Given the description of an element on the screen output the (x, y) to click on. 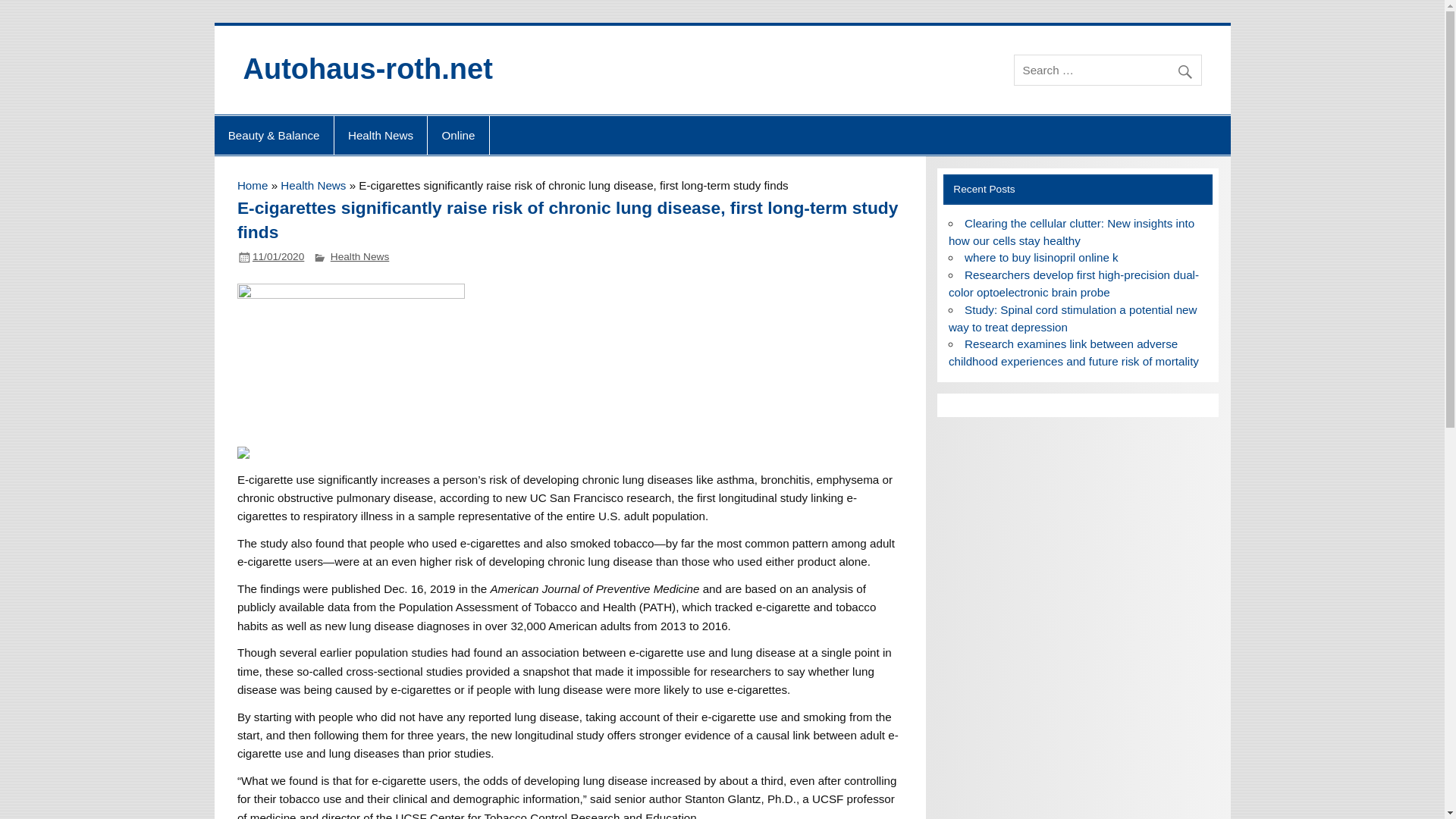
Health News (360, 256)
2:05 am (277, 256)
Online (457, 135)
Health News (381, 135)
where to buy lisinopril online k (1040, 256)
Health News (313, 185)
Home (252, 185)
Autohaus-roth.net (367, 69)
